Given the description of an element on the screen output the (x, y) to click on. 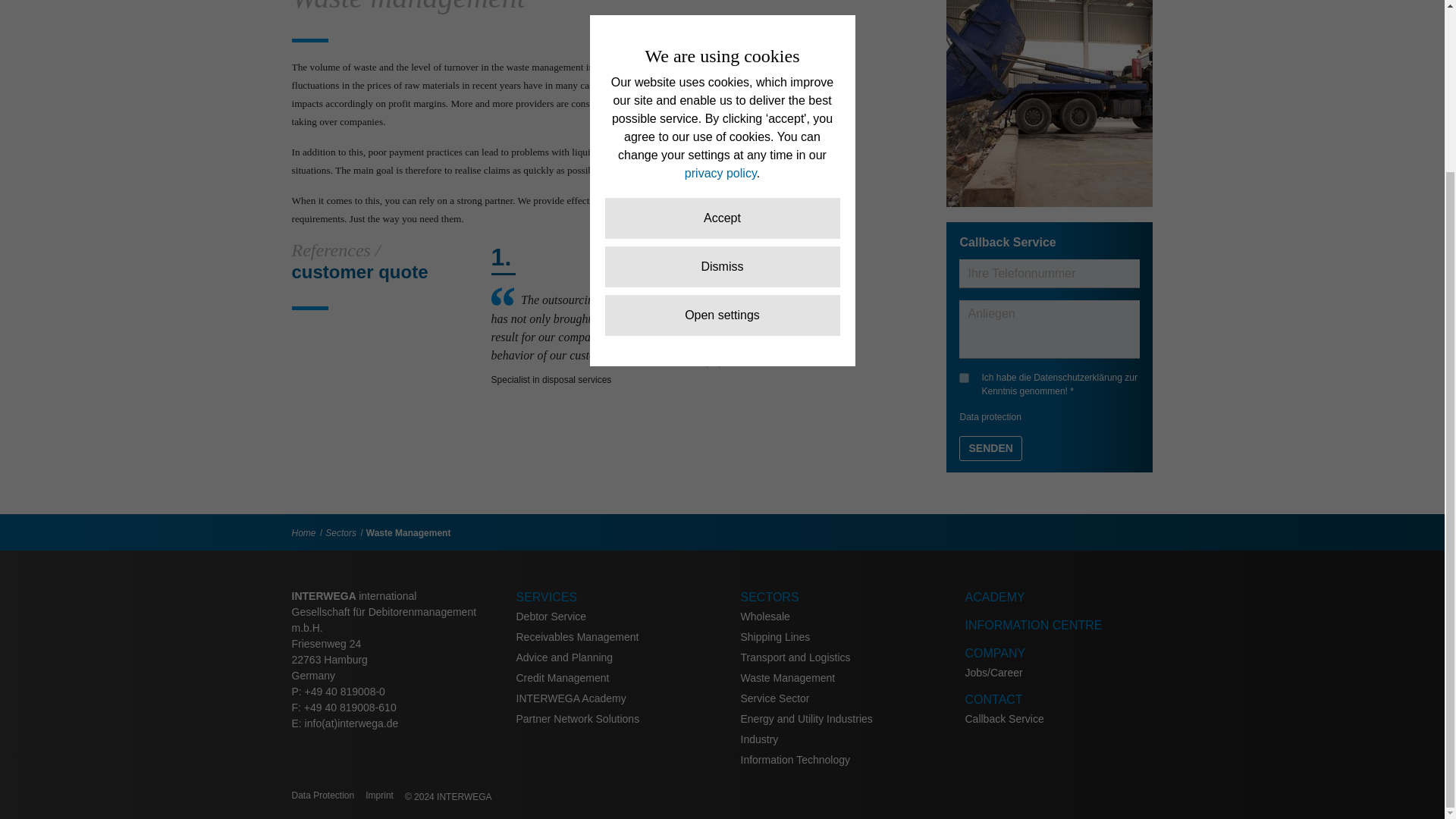
Ja (964, 378)
Advice and Planning (563, 657)
Home (303, 532)
Service Sector (774, 698)
Industry (758, 739)
Waste Management (408, 532)
Shipping Lines (774, 636)
Receivables Management (577, 636)
Debtor Service (550, 616)
Transport and Logistics (794, 657)
